Given the description of an element on the screen output the (x, y) to click on. 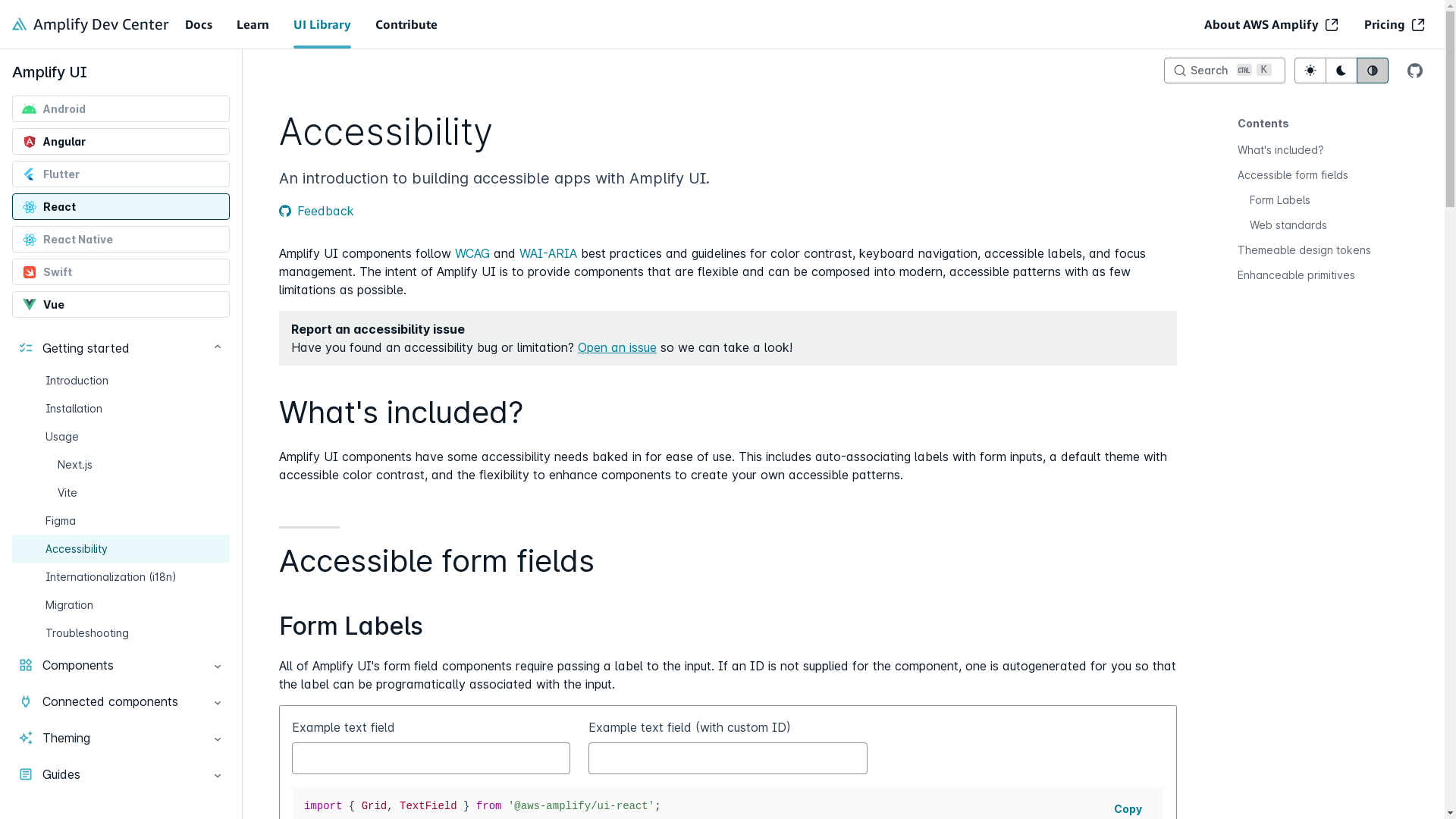
Next.js Element type: text (120, 464)
Vite Element type: text (120, 492)
Skip to main content Element type: text (722, 14)
Amplify UI Element type: text (49, 71)
About AWS Amplify Element type: text (1270, 24)
Docs Element type: text (198, 24)
Swift Element type: text (120, 271)
Light mode Element type: text (1310, 70)
Vue Element type: text (120, 304)
Introduction Element type: text (120, 380)
React Native Element type: text (120, 238)
Flutter Element type: text (120, 173)
Pricing Element type: text (1393, 24)
GitHub Element type: text (1414, 70)
What's included? Element type: text (1310, 149)
Accessible form fields Element type: text (1310, 174)
Migration Element type: text (120, 604)
UI Library Element type: text (321, 24)
Angular Element type: text (120, 141)
Android Element type: text (120, 108)
Learn Element type: text (252, 24)
Dark mode Element type: text (1341, 70)
Form Labels Element type: text (1316, 199)
Usage Element type: text (120, 436)
Internationalization (i18n) Element type: text (120, 576)
Installation Element type: text (120, 408)
Open an issue Element type: text (616, 346)
Contribute Element type: text (406, 24)
System preference Element type: text (1372, 70)
WAI-ARIA Element type: text (548, 252)
WCAG Element type: text (472, 252)
Feedback Element type: text (316, 210)
Web standards Element type: text (1316, 224)
Accessibility Element type: text (120, 548)
Troubleshooting Element type: text (120, 632)
Figma Element type: text (120, 520)
React Element type: text (120, 206)
Search
K Element type: text (1224, 70)
Themeable design tokens Element type: text (1310, 249)
Enhanceable primitives Element type: text (1310, 274)
